Given the description of an element on the screen output the (x, y) to click on. 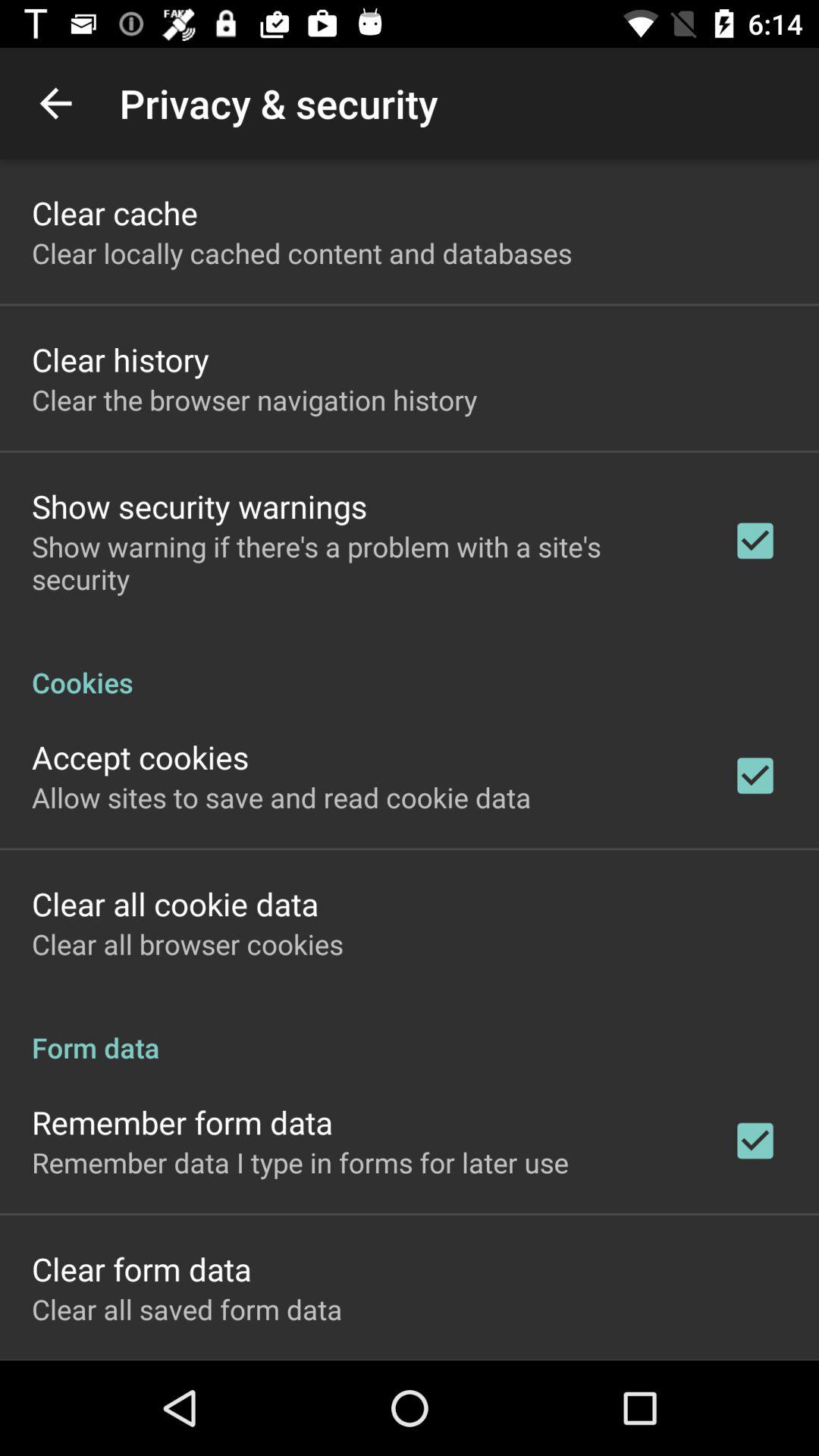
tap icon above the clear locally cached icon (114, 212)
